Given the description of an element on the screen output the (x, y) to click on. 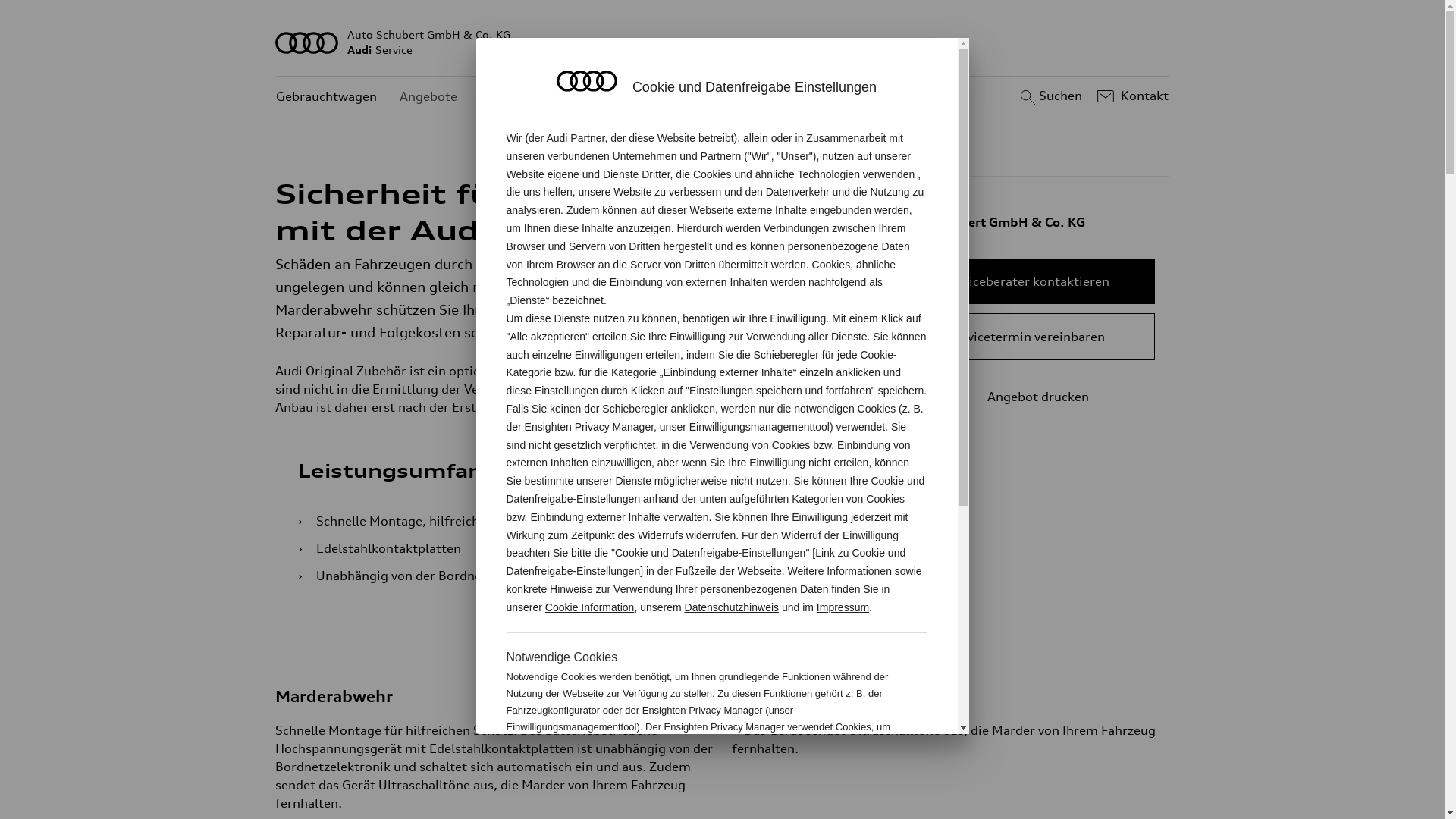
Gebrauchtwagen Element type: text (326, 96)
Serviceberater kontaktieren Element type: text (1025, 281)
Audi Partner Element type: text (575, 137)
Kontakt Element type: text (1130, 96)
Cookie Information Element type: text (589, 607)
Cookie Information Element type: text (847, 776)
Angebote Element type: text (428, 96)
Suchen Element type: text (1049, 96)
Auto Schubert GmbH & Co. KG
AudiService Element type: text (722, 42)
Kundenservice Element type: text (523, 96)
Servicetermin vereinbaren Element type: text (1025, 336)
Datenschutzhinweis Element type: text (731, 607)
Angebot drucken Element type: text (1026, 396)
Impressum Element type: text (842, 607)
